Given the description of an element on the screen output the (x, y) to click on. 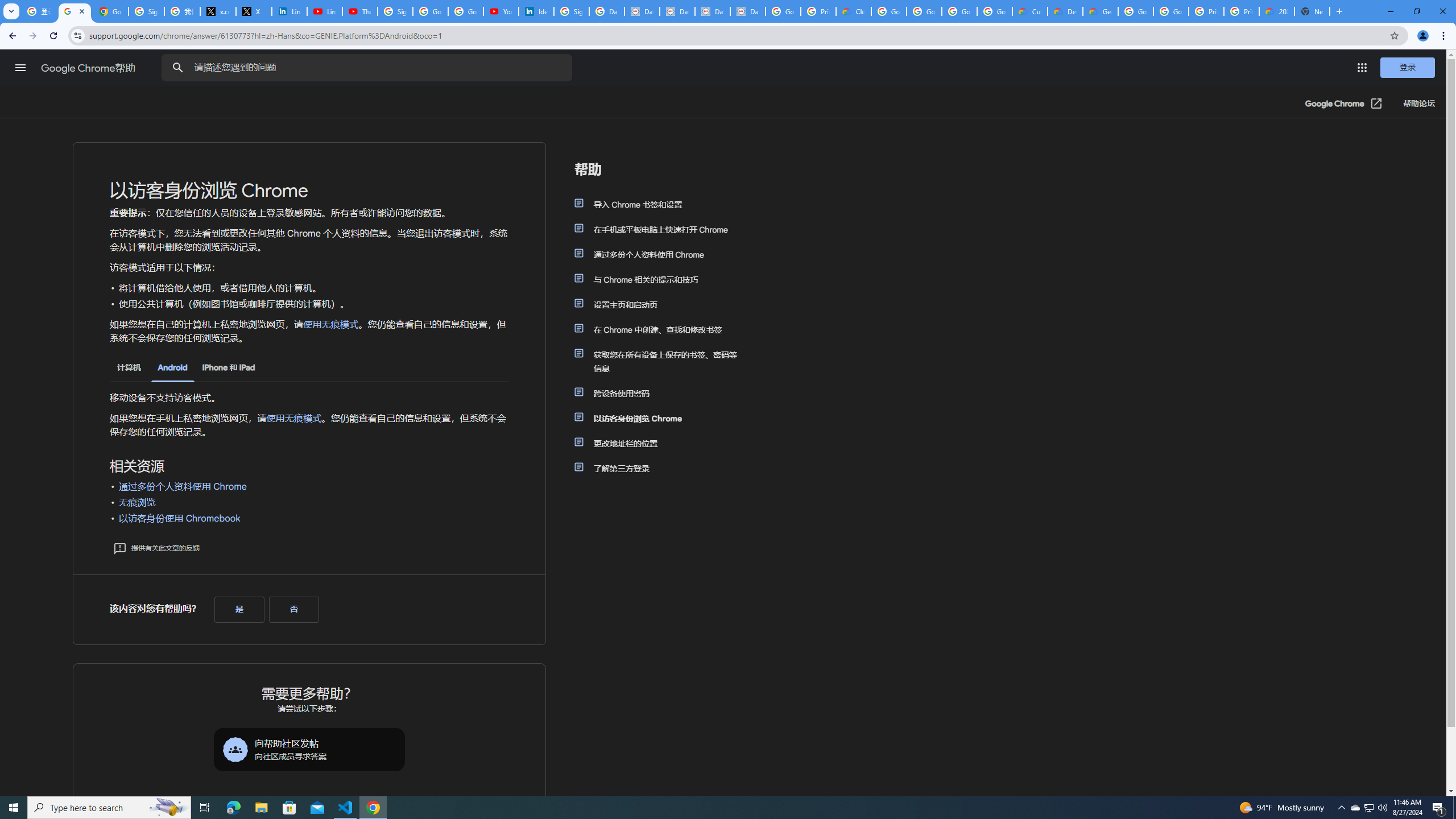
Data Privacy Framework (712, 11)
Google Cloud Platform (1170, 11)
